Given the description of an element on the screen output the (x, y) to click on. 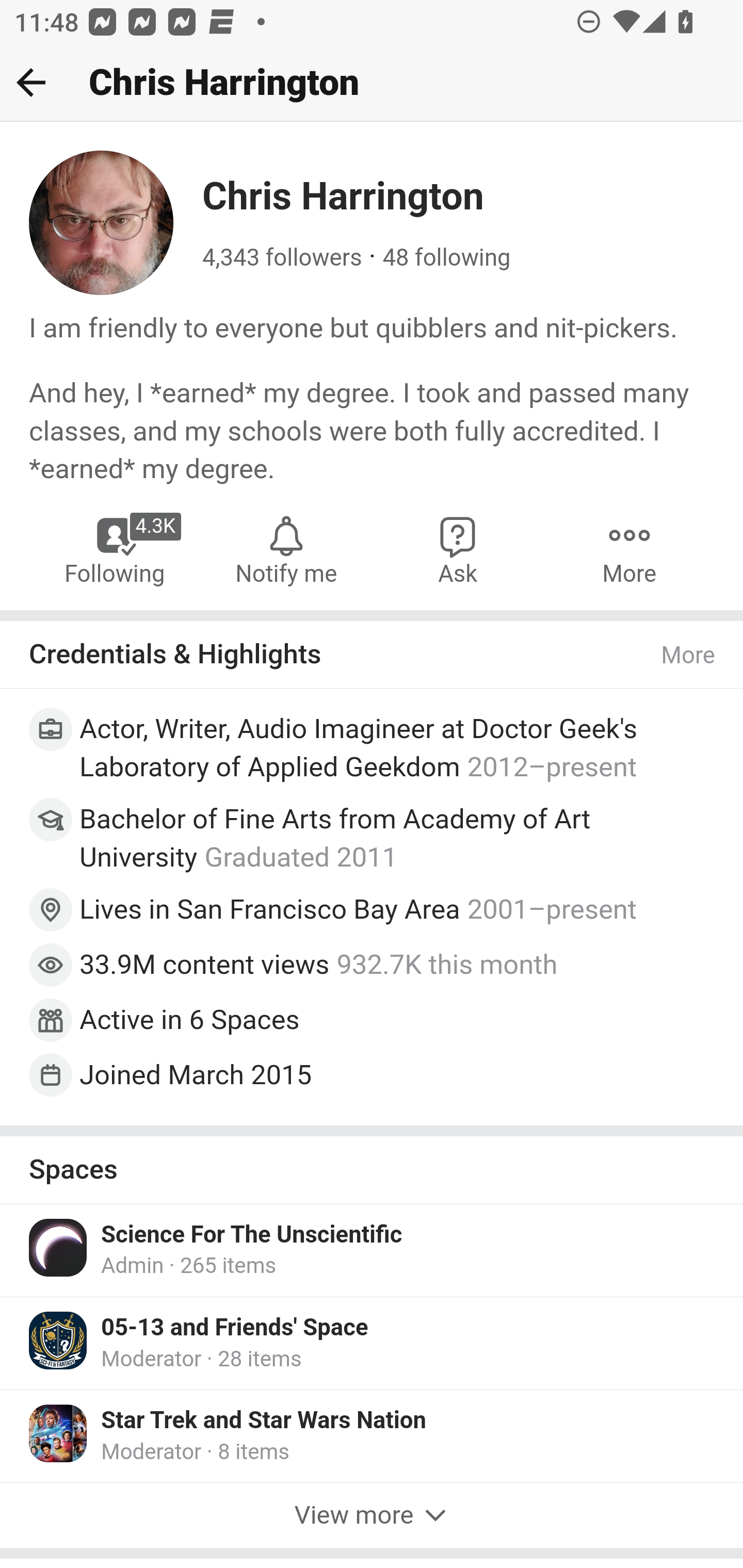
Back (30, 82)
4,343 followers (282, 257)
48 following (445, 257)
Following Chris Harrington 4.3K Following (115, 548)
Notify me (285, 548)
Ask (458, 548)
More (628, 548)
More (688, 656)
Icon for Science For The Unscientific (58, 1246)
Science For The Unscientific (251, 1233)
Icon for 05-13 and Friends' Space (58, 1339)
05-13 and Friends' Space (235, 1327)
Icon for Star Trek and Star Wars Nation (58, 1432)
Star Trek and Star Wars Nation (264, 1420)
View more (371, 1516)
